Given the description of an element on the screen output the (x, y) to click on. 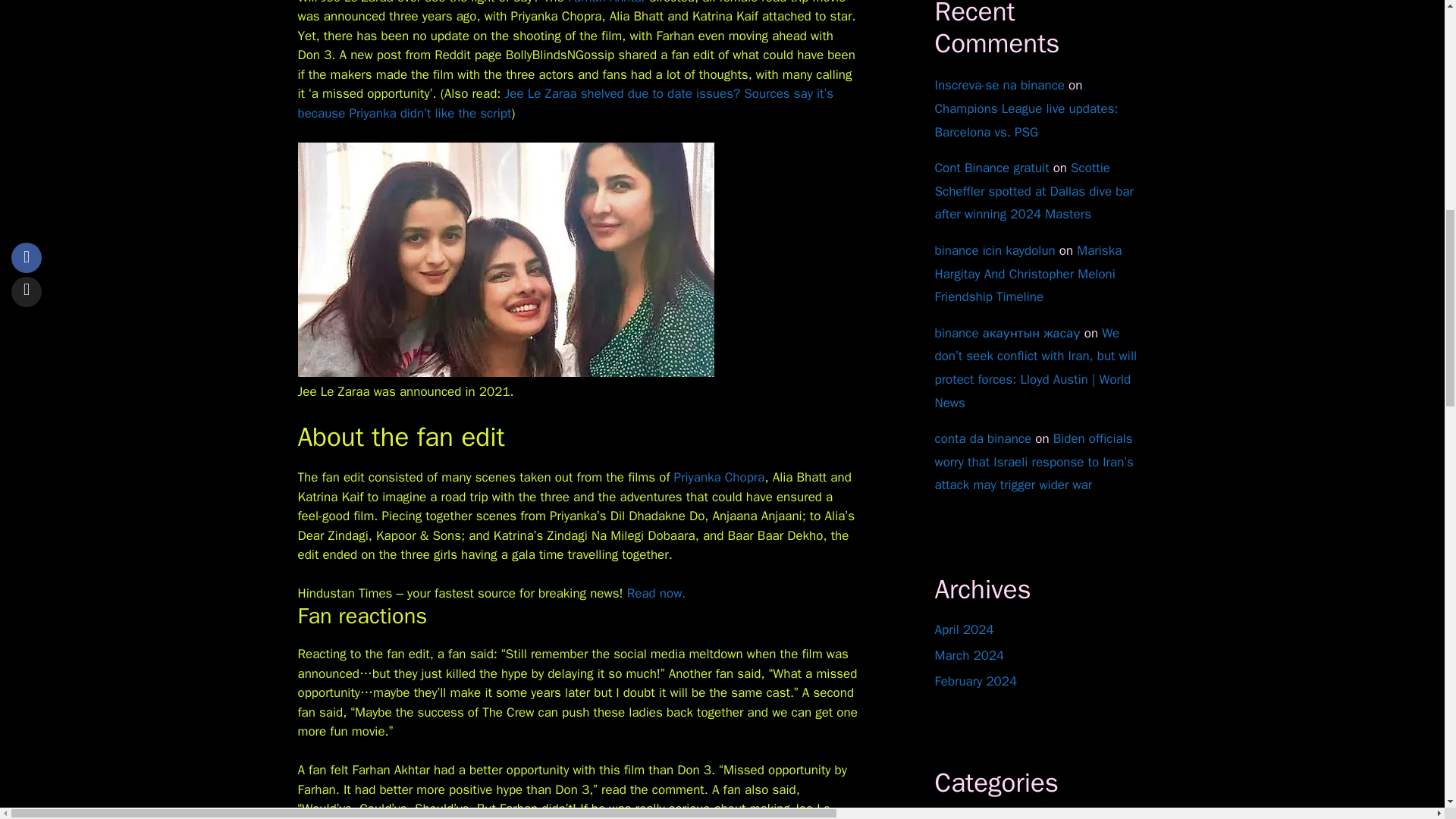
Read now. (656, 593)
Farhan Akhtar (606, 2)
Priyanka Chopra (719, 477)
Jee Le Zaraa was announced in 2021. (505, 259)
